Given the description of an element on the screen output the (x, y) to click on. 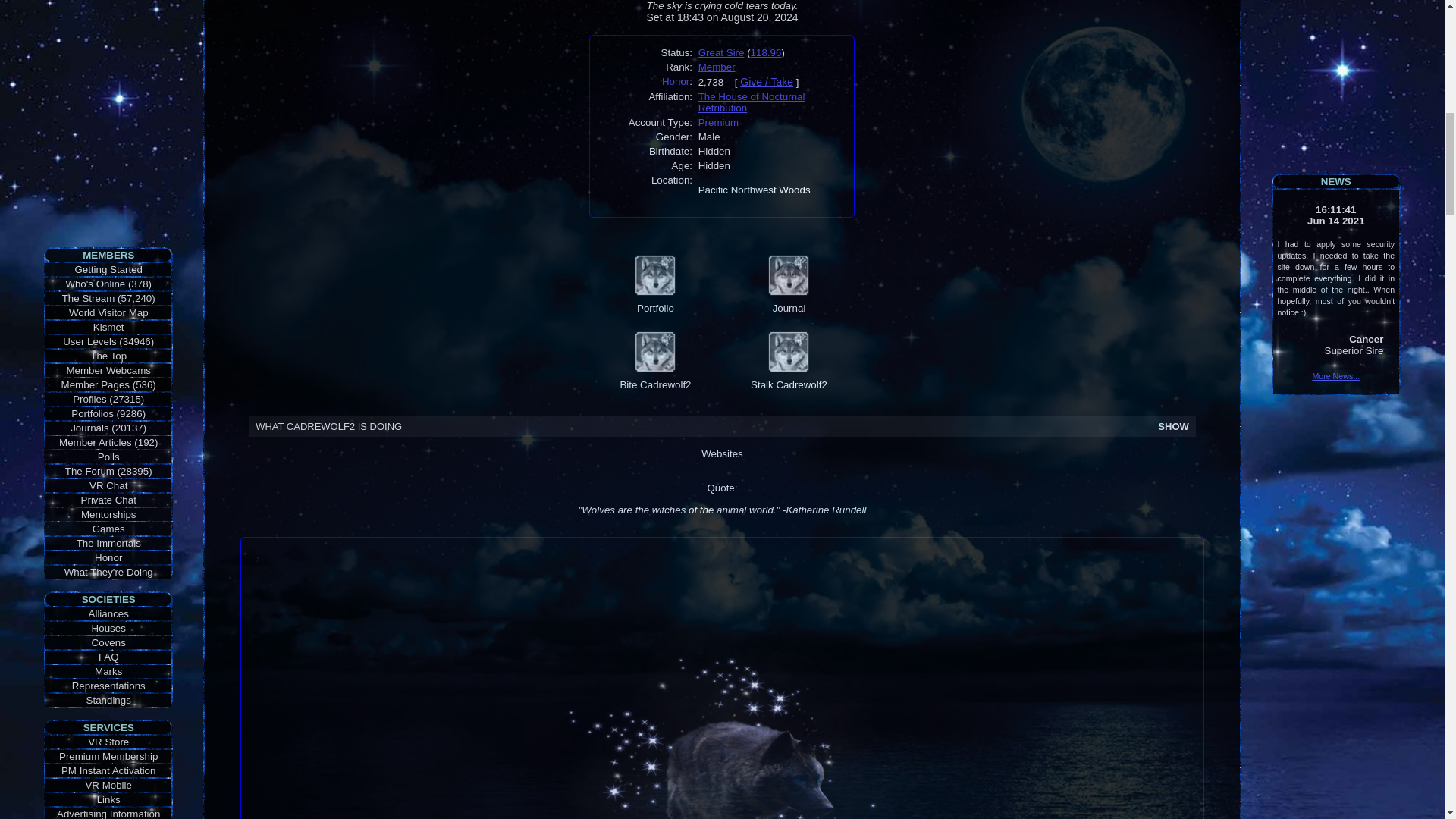
What They're Doing (108, 572)
Mentorships (108, 514)
VR Chat (108, 485)
Honor (108, 557)
World Visitor Map (108, 312)
The Top (108, 355)
Kismet (108, 326)
Member Webcams (108, 369)
Getting Started (108, 269)
Games (109, 528)
